Given the description of an element on the screen output the (x, y) to click on. 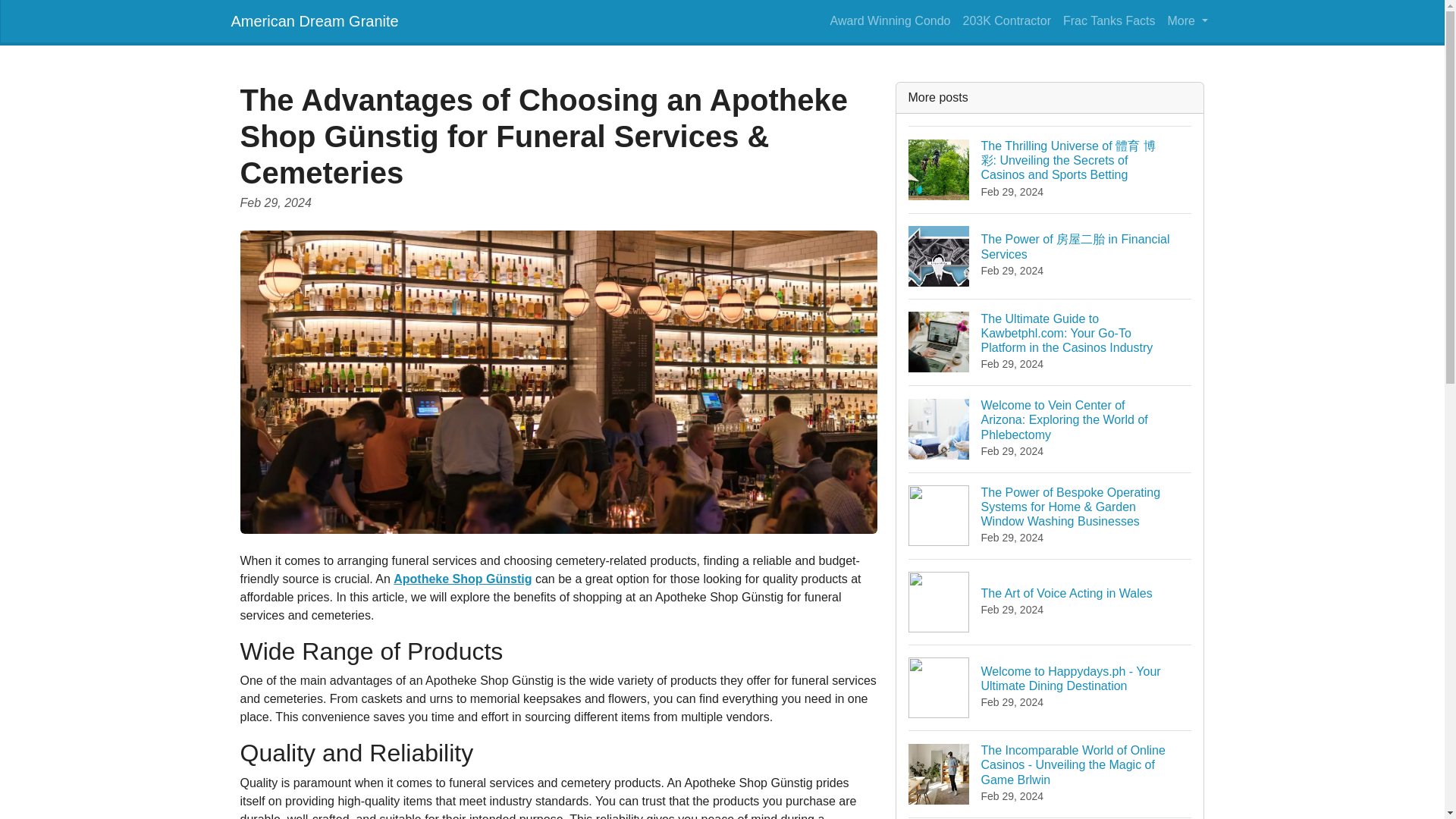
Frac Tanks Facts (1109, 20)
203K Contractor (1006, 20)
American Dream Granite (313, 20)
Award Winning Condo (890, 20)
More (1187, 20)
